Given the description of an element on the screen output the (x, y) to click on. 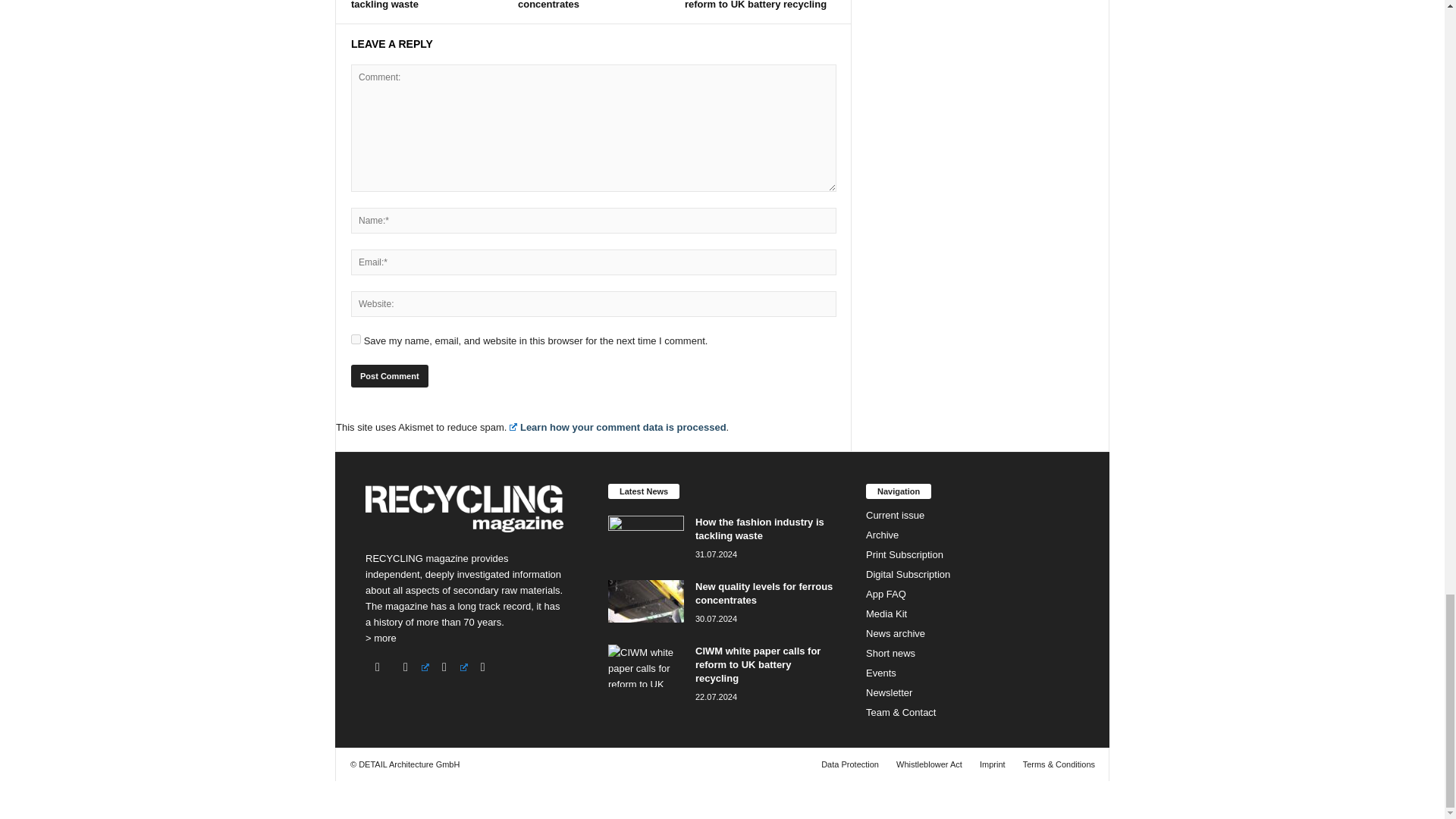
yes (355, 338)
Post Comment (389, 375)
